Given the description of an element on the screen output the (x, y) to click on. 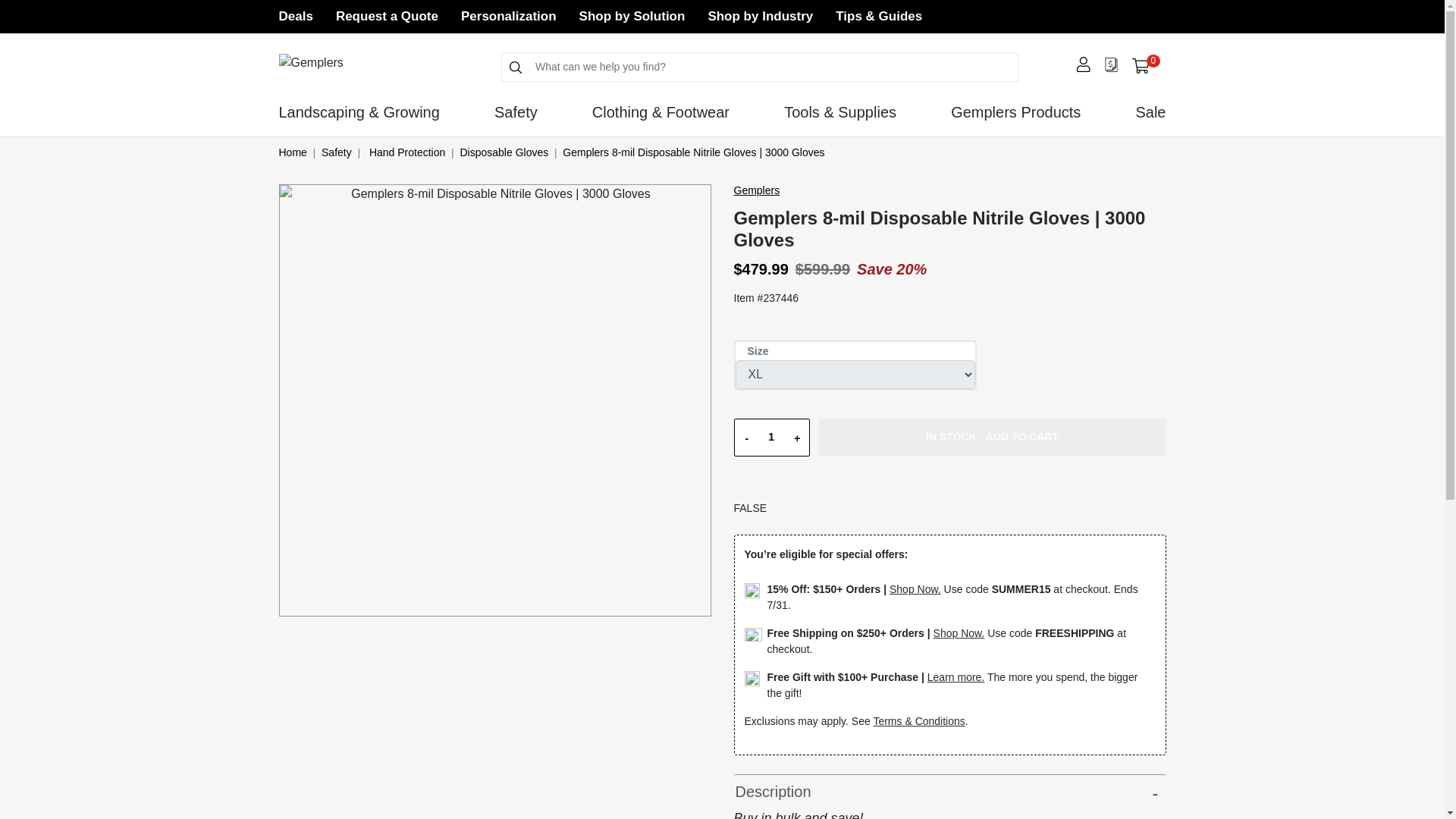
Shop by Solution (632, 16)
Personalization (1145, 65)
1 (508, 16)
Deals (770, 436)
Request a Quote (296, 16)
Shopping Cart (387, 16)
Shop by Industry (1141, 66)
